Given the description of an element on the screen output the (x, y) to click on. 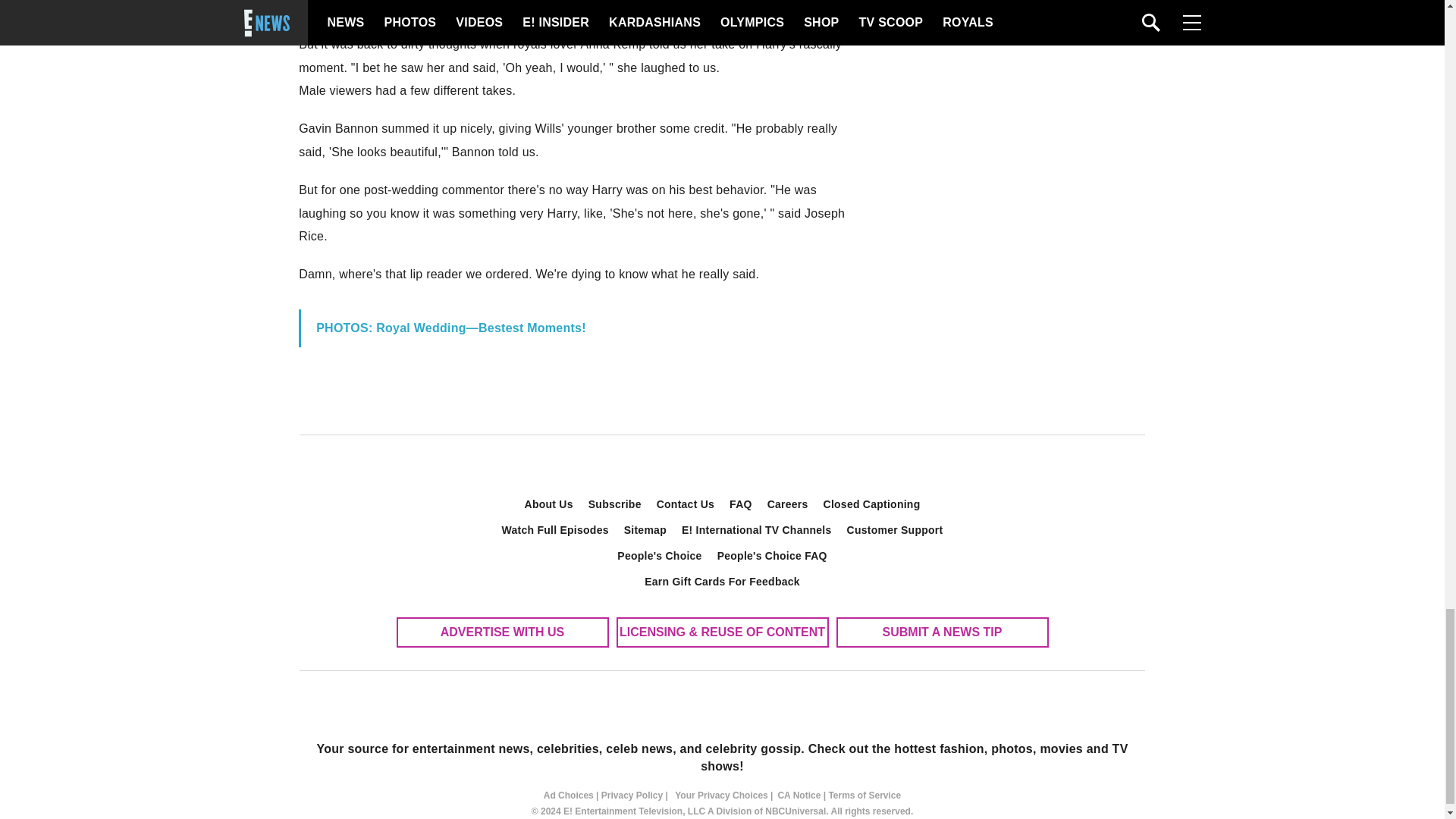
About Us (548, 503)
Contact Us (685, 503)
FAQ (741, 503)
Subscribe (614, 503)
